Given the description of an element on the screen output the (x, y) to click on. 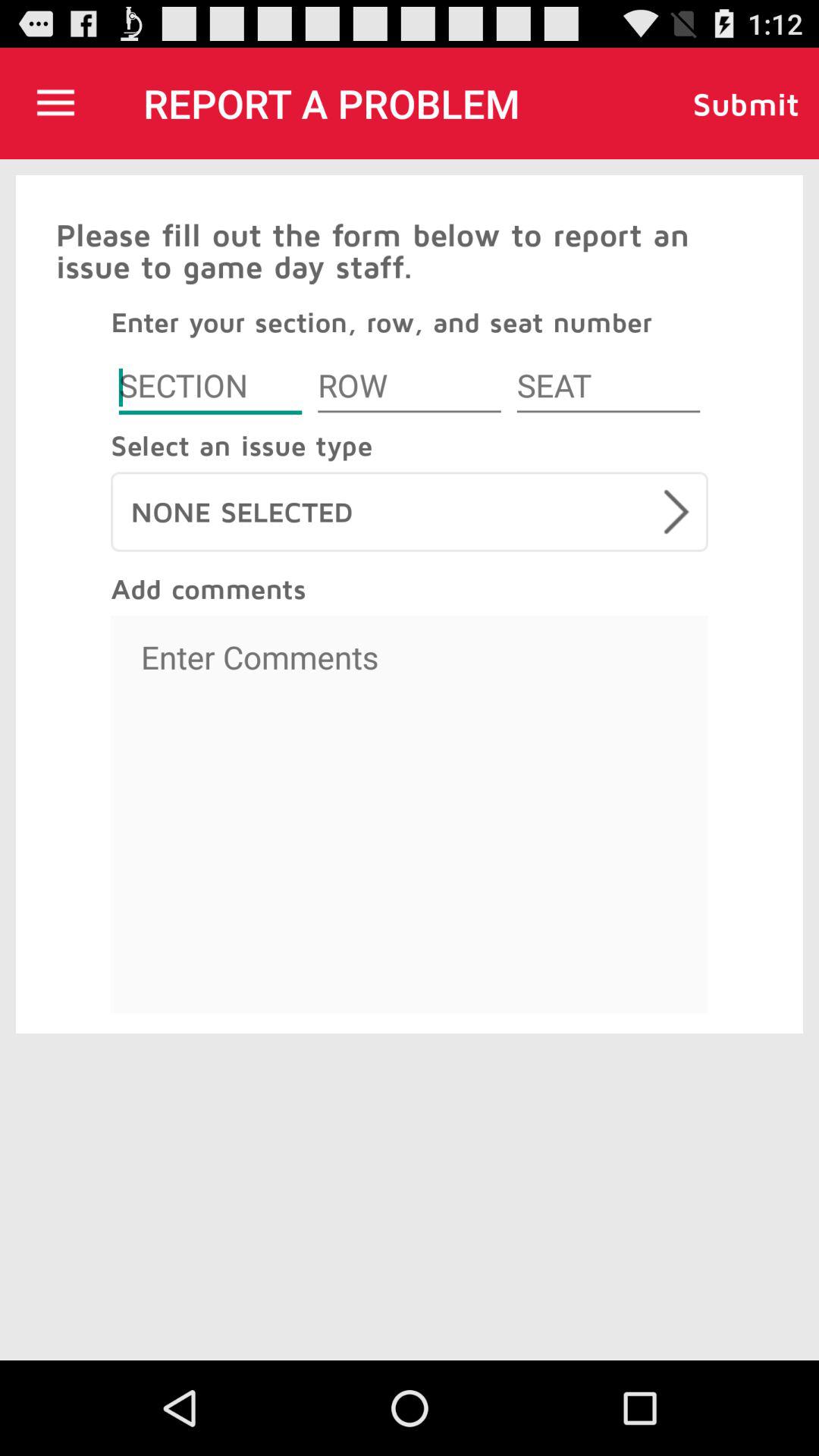
seat choosing (608, 388)
